Given the description of an element on the screen output the (x, y) to click on. 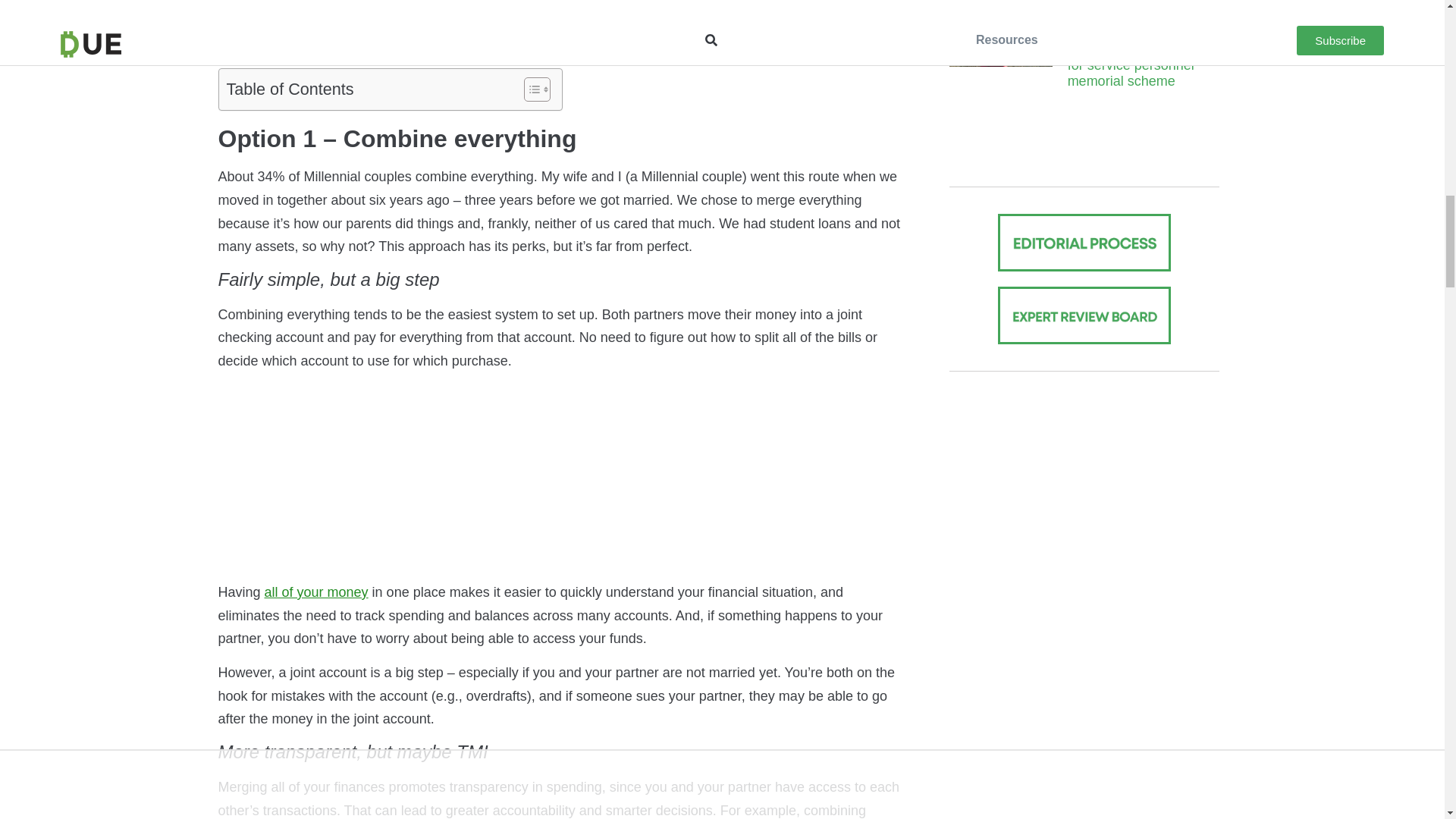
all of your money (316, 591)
